Given the description of an element on the screen output the (x, y) to click on. 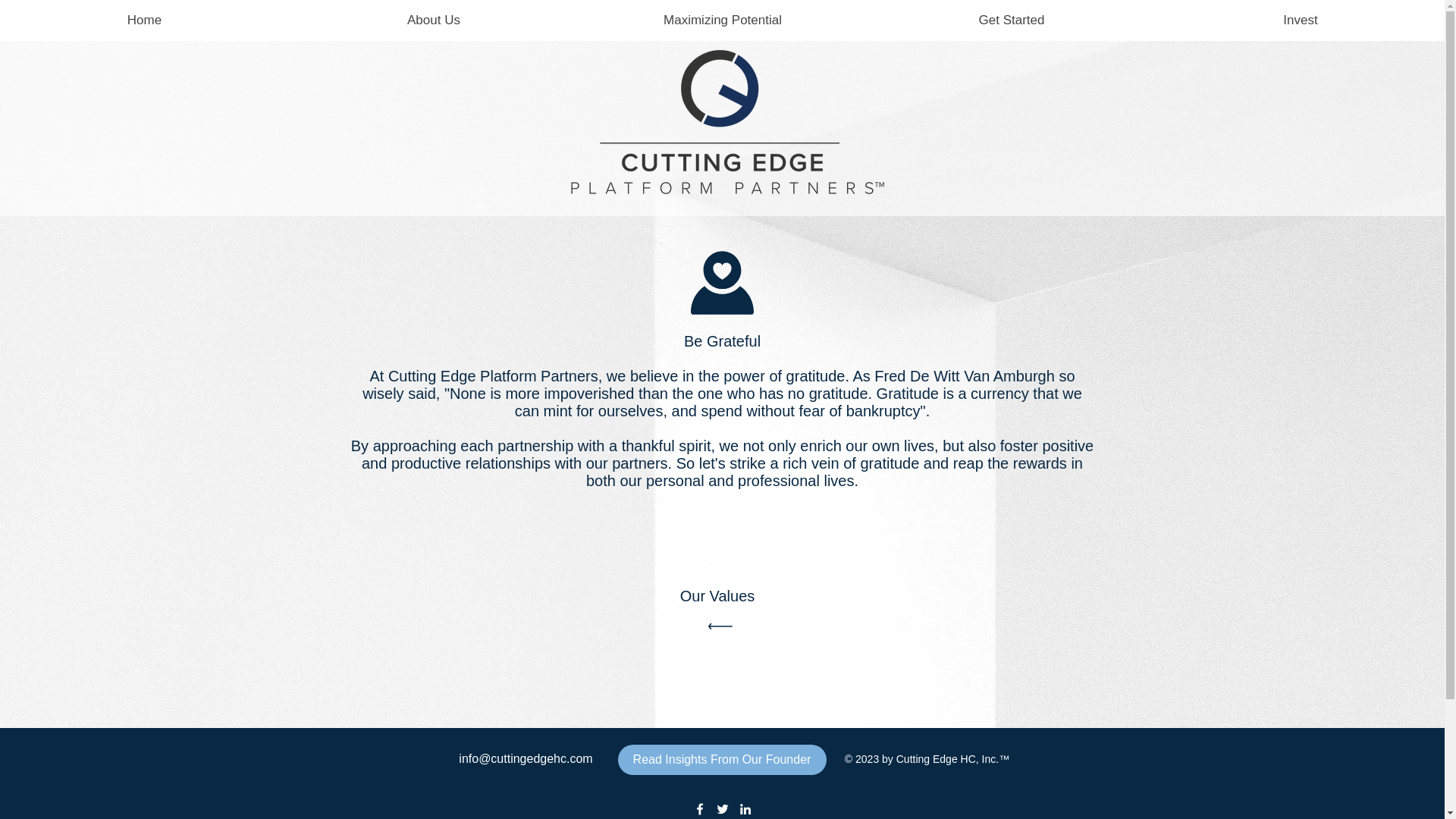
Get Started (1011, 19)
Our Values (722, 613)
Read Insights From Our Founder (721, 759)
Home (144, 19)
Maximizing Potential (722, 19)
